Given the description of an element on the screen output the (x, y) to click on. 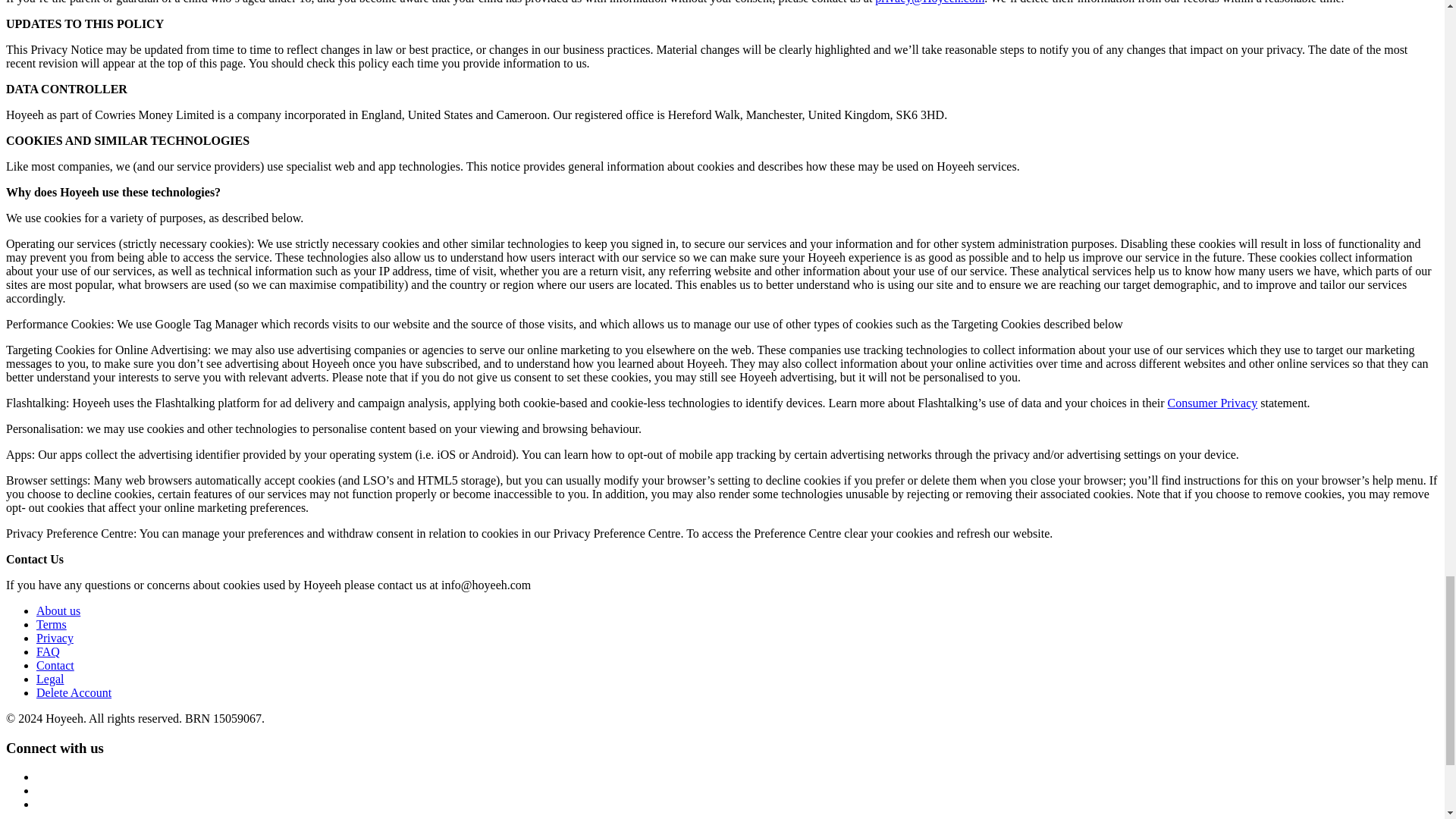
Contact (55, 665)
Legal (50, 678)
Delete Account (74, 692)
FAQ (47, 651)
Terms (51, 624)
About us (58, 610)
Consumer Privacy (1212, 402)
Privacy (55, 637)
